Given the description of an element on the screen output the (x, y) to click on. 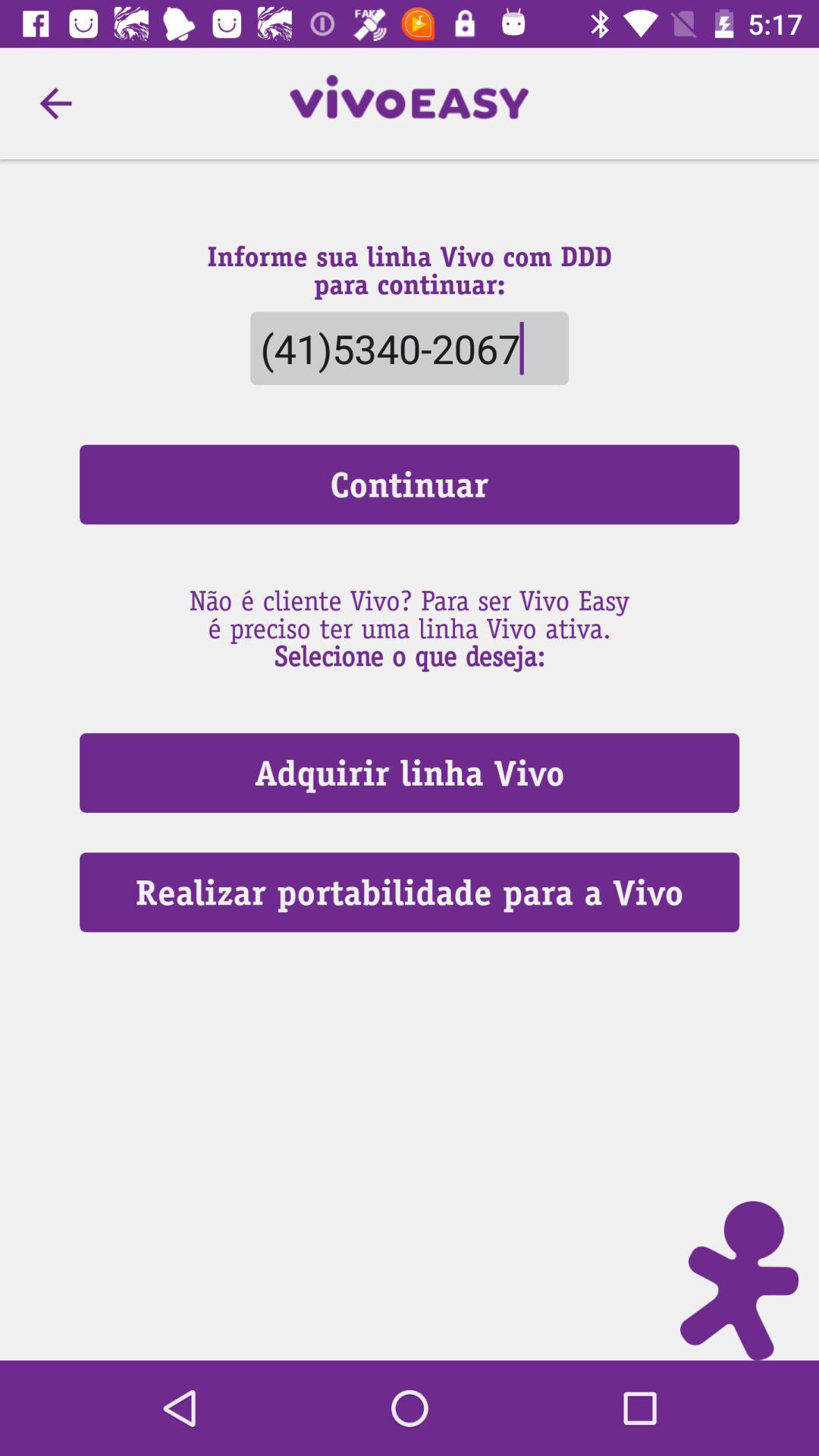
click the item below informe sua linha icon (409, 348)
